Given the description of an element on the screen output the (x, y) to click on. 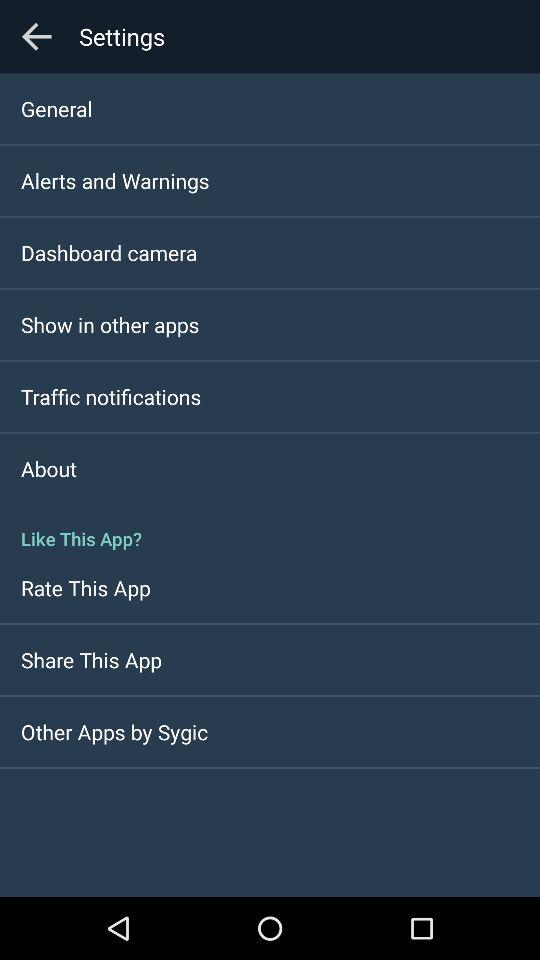
press the item above the traffic notifications app (110, 324)
